Given the description of an element on the screen output the (x, y) to click on. 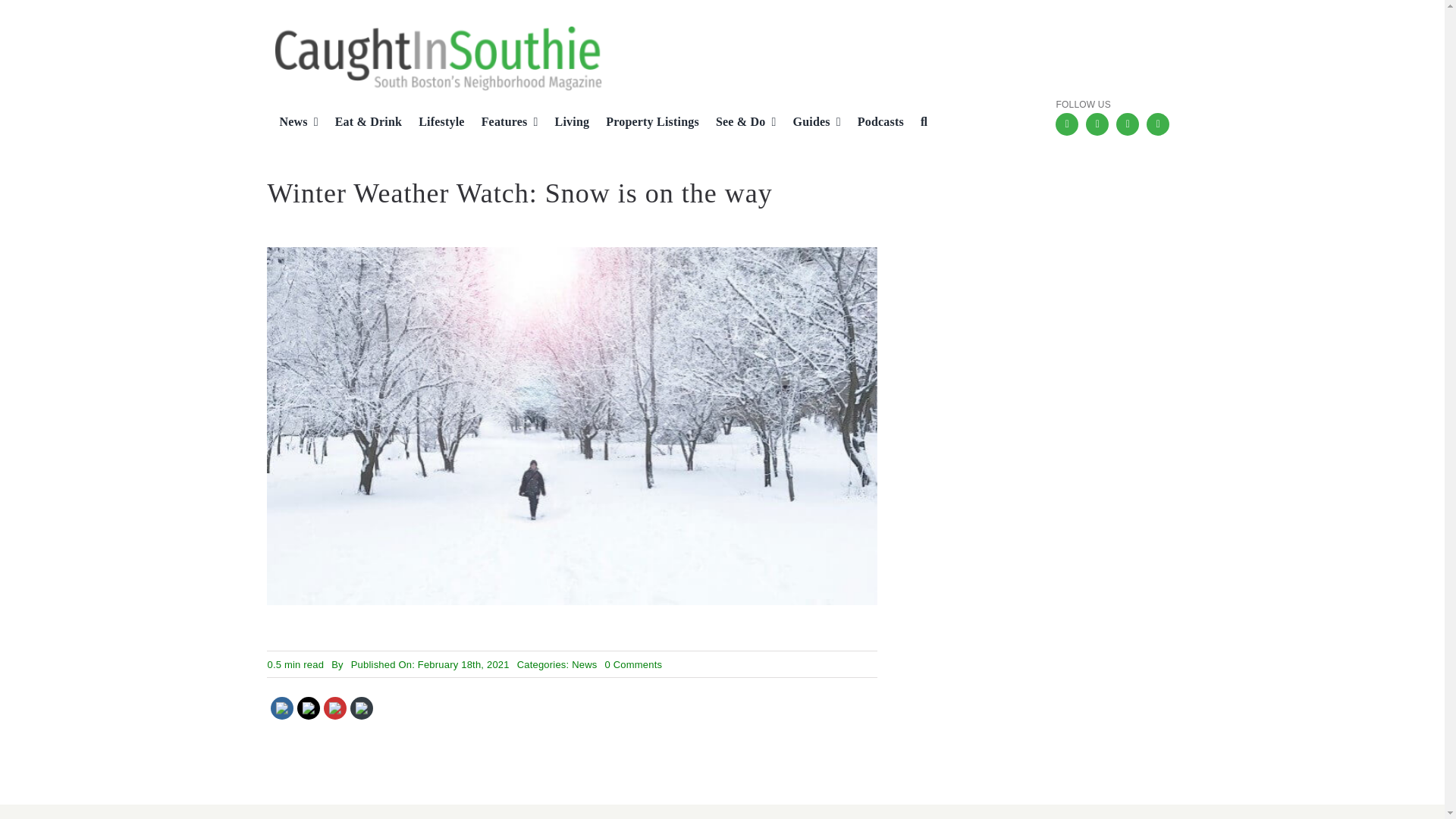
Lifestyle (435, 122)
Podcasts (874, 122)
Pinterest (335, 707)
Twitter (1127, 124)
Features (503, 122)
Guides (810, 122)
Instagram (1097, 124)
Twitter (308, 707)
Property Listings (646, 122)
